Given the description of an element on the screen output the (x, y) to click on. 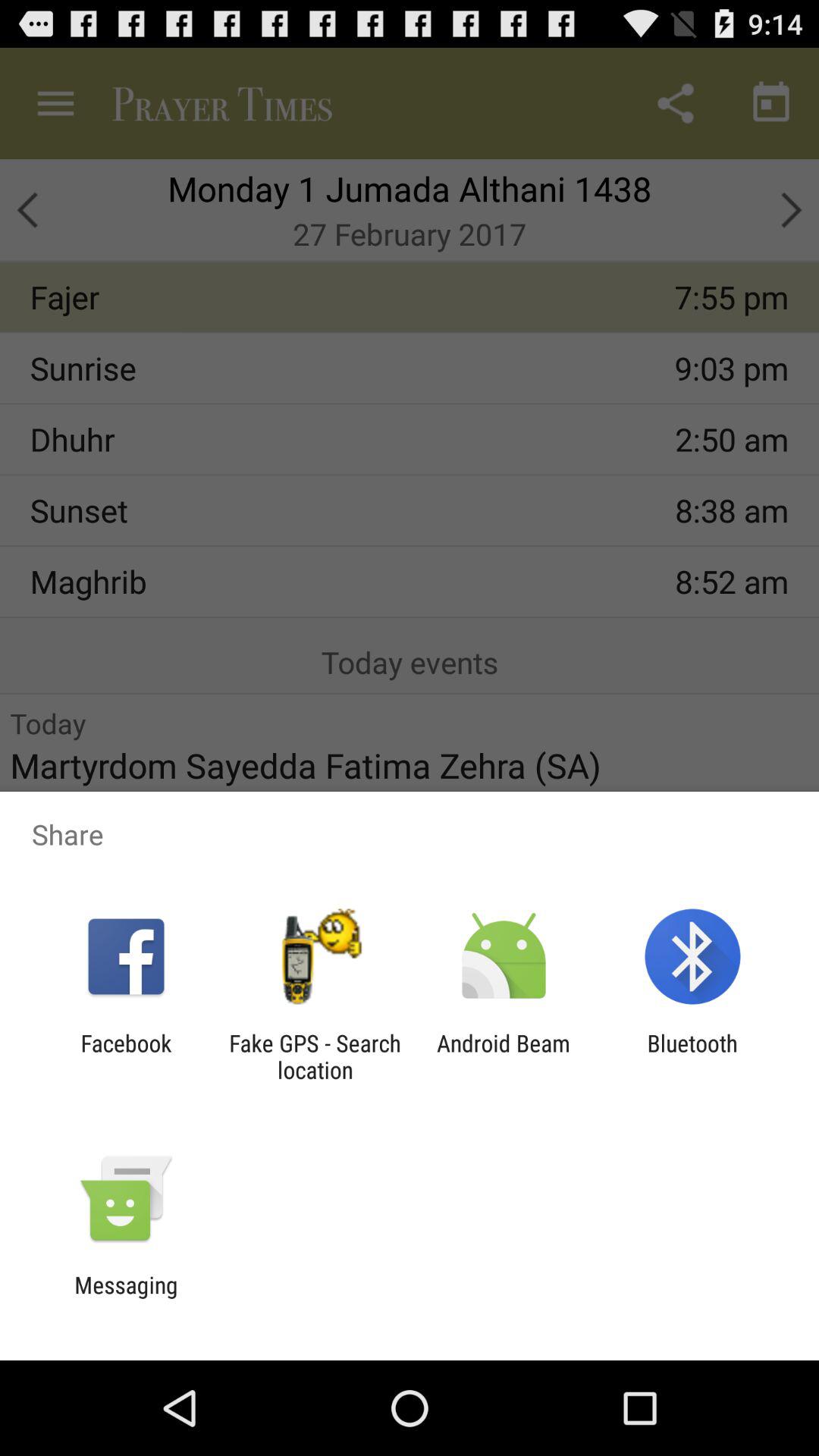
turn off item to the left of fake gps search (125, 1056)
